Given the description of an element on the screen output the (x, y) to click on. 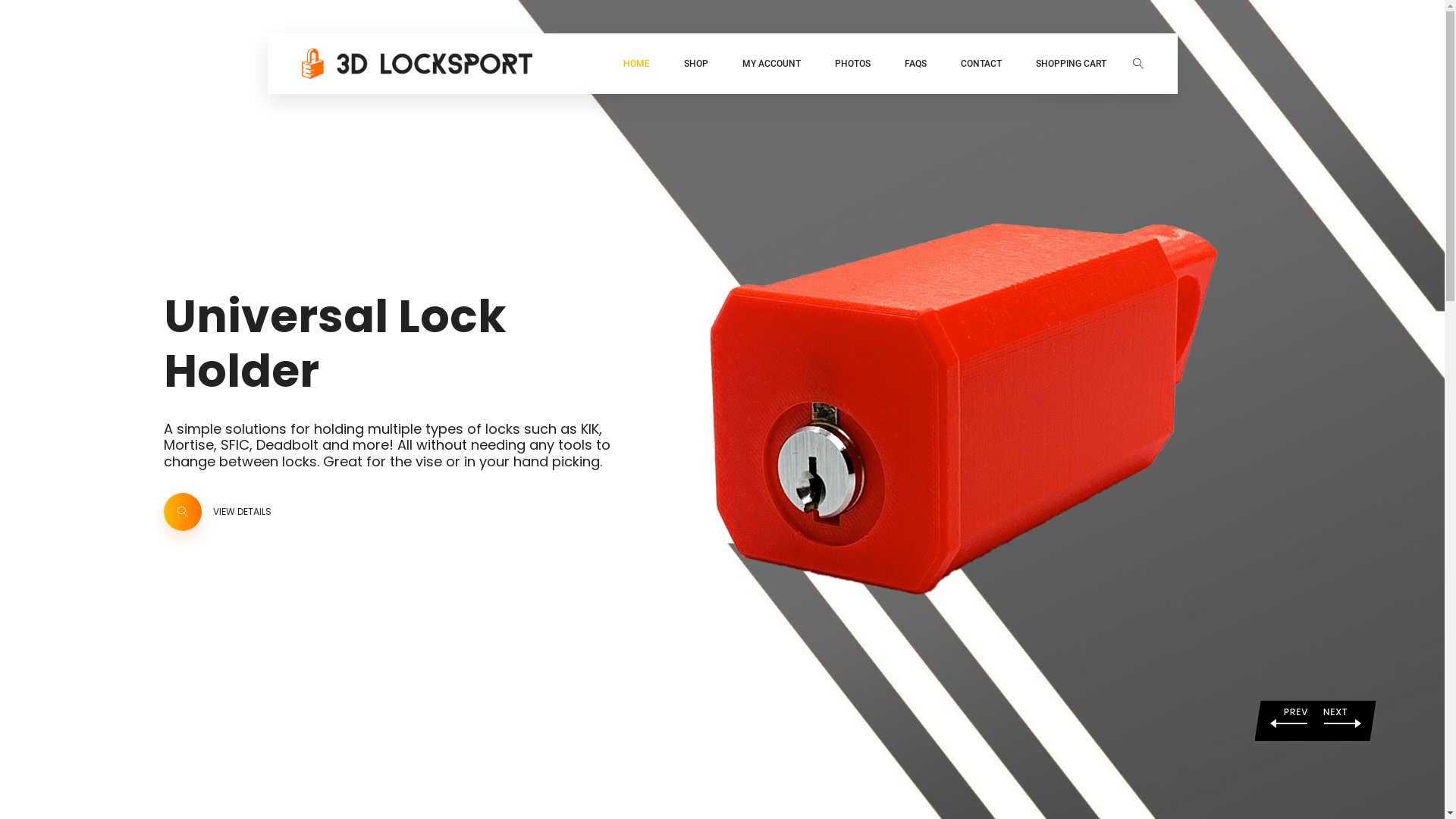
PHOTOS Element type: text (851, 63)
CONTACT Element type: text (980, 63)
FAQS Element type: text (914, 63)
VIEW DETAILS Element type: text (236, 539)
MY ACCOUNT Element type: text (770, 63)
SHOPPING CART Element type: text (1070, 63)
SHOP Element type: text (696, 63)
HOME Element type: text (636, 63)
